Given the description of an element on the screen output the (x, y) to click on. 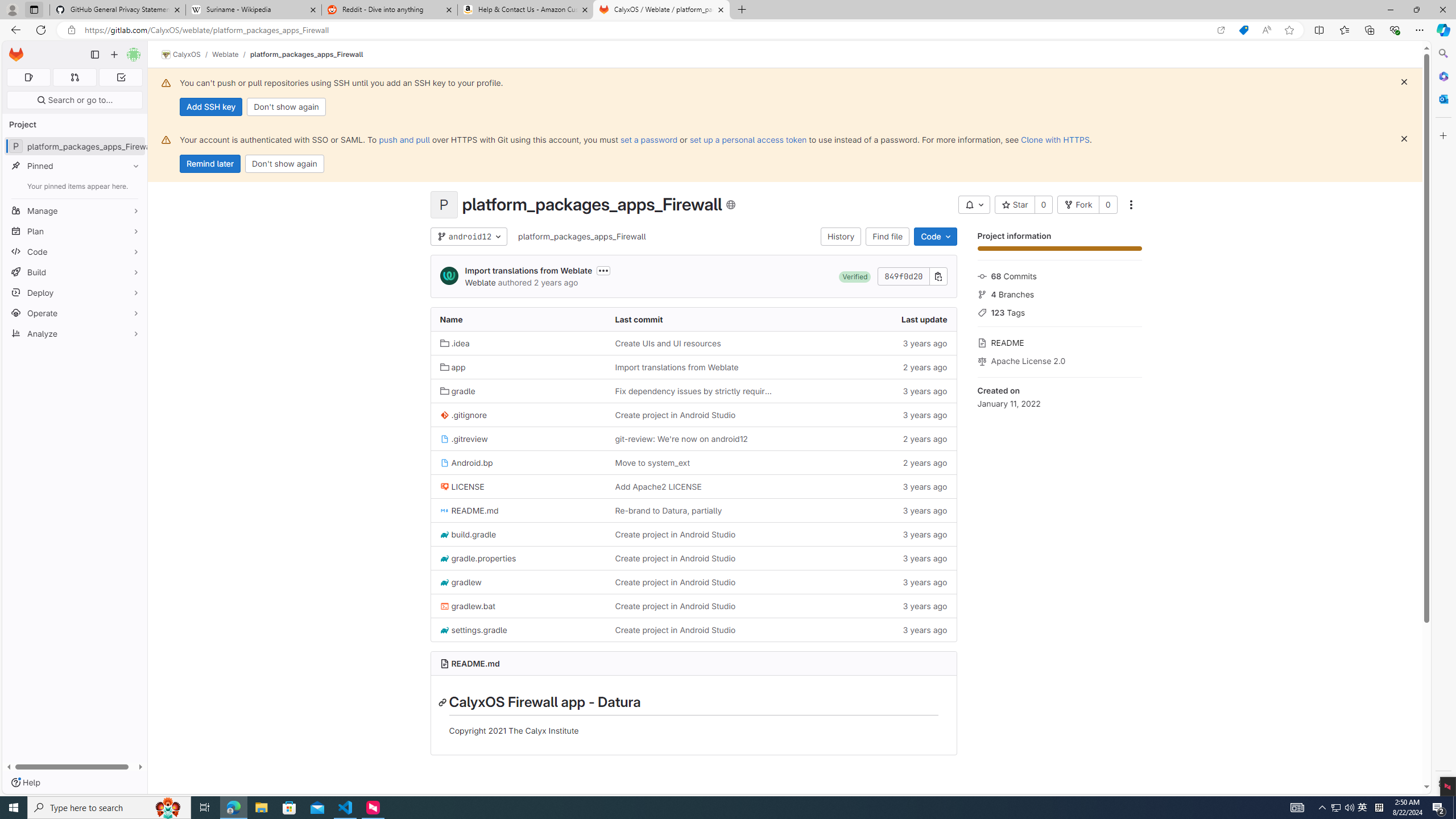
gradlew.bat (517, 605)
Fork (1078, 204)
git-review: We're now on android12 (693, 438)
123 Tags (1058, 311)
.gitreview (463, 438)
Last update (868, 319)
Find file (888, 236)
Create project in Android Studio (674, 629)
README.md (475, 663)
Build (74, 271)
Add Apache2 LICENSE (657, 486)
2 years ago (868, 462)
Create new... (113, 54)
